Given the description of an element on the screen output the (x, y) to click on. 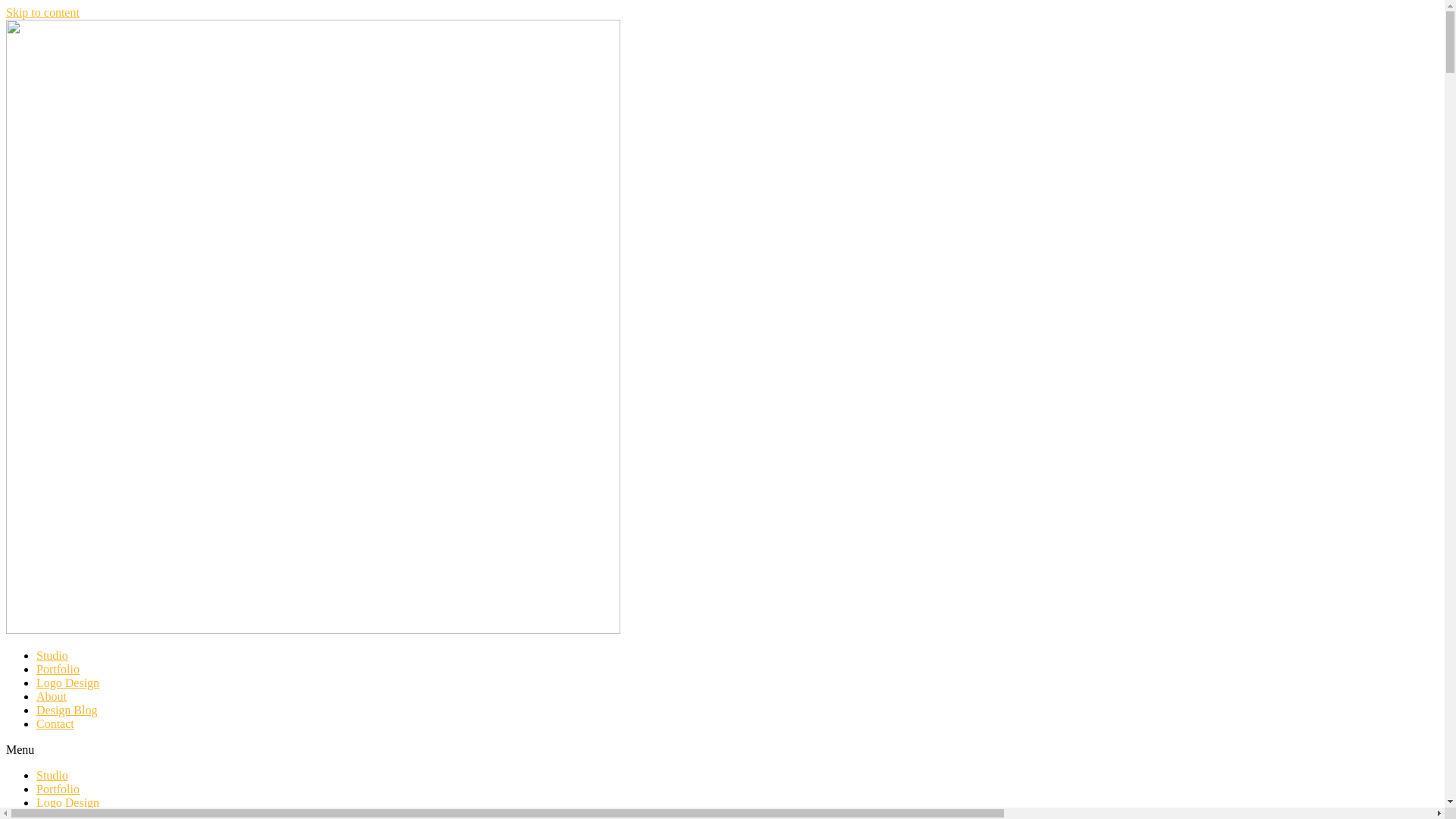
Logo Design Element type: text (67, 802)
Contact Element type: text (55, 723)
Design Blog Element type: text (66, 709)
Logo Design Element type: text (67, 682)
Skip to content Element type: text (42, 12)
About Element type: text (51, 696)
Studio Element type: text (52, 774)
Portfolio Element type: text (57, 668)
Portfolio Element type: text (57, 788)
Studio Element type: text (52, 655)
